Given the description of an element on the screen output the (x, y) to click on. 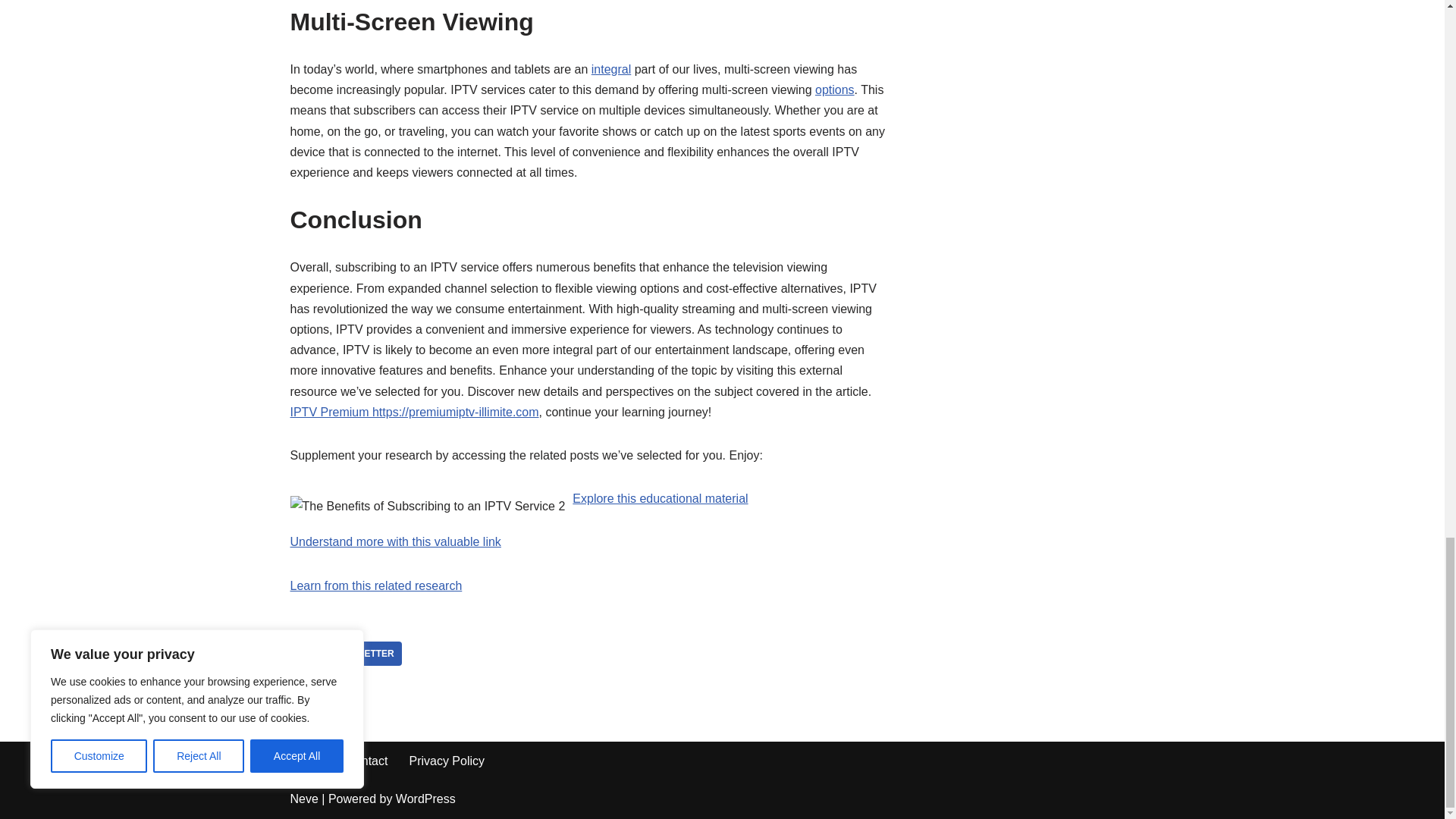
Privacy Policy (446, 761)
Contact (366, 761)
Understand more with this valuable link (394, 541)
integral (610, 69)
options (834, 89)
About (308, 761)
Explore this educational material (660, 498)
Learn from this related research (375, 585)
